Given the description of an element on the screen output the (x, y) to click on. 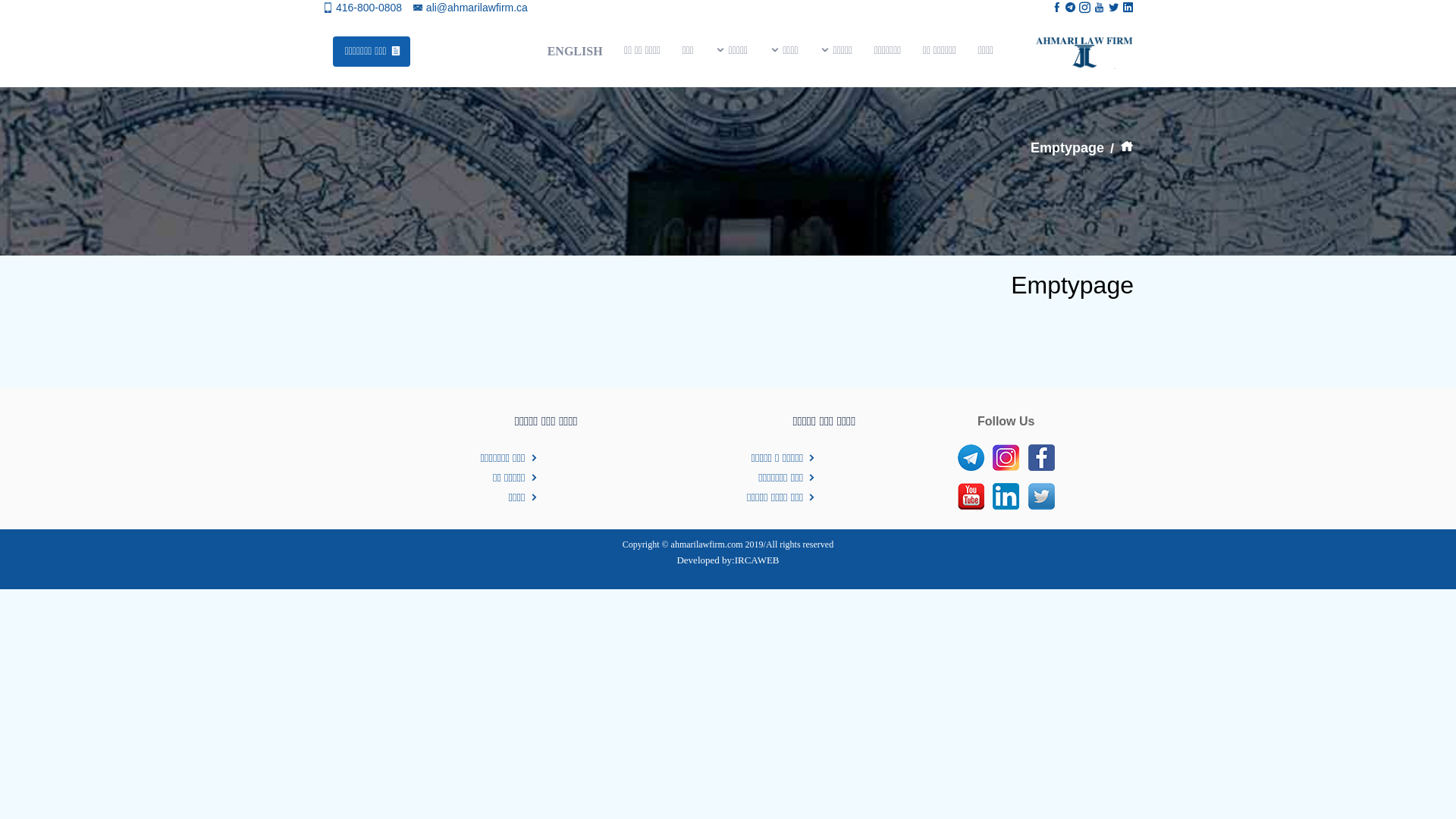
IRCAWEB Element type: text (756, 559)
ahmarilawfirm.ca Element type: hover (1084, 51)
ENGLISH Element type: text (574, 50)
